Given the description of an element on the screen output the (x, y) to click on. 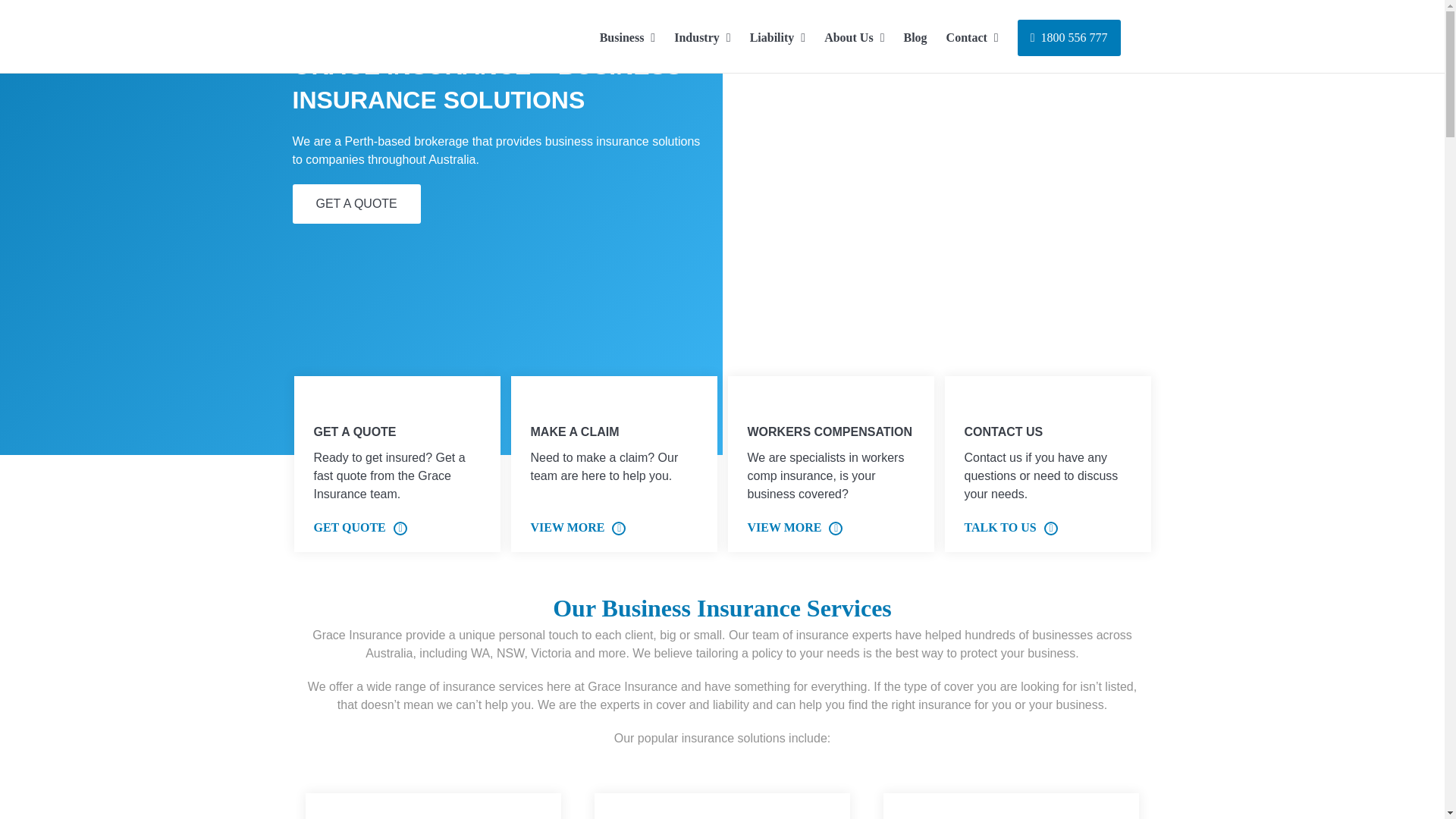
GET QUOTE Element type: text (360, 527)
TALK TO US Element type: text (1010, 527)
sms-chat Element type: hover (325, 403)
group-equal Element type: hover (976, 403)
GET A QUOTE Element type: text (356, 203)
Industry Element type: text (702, 36)
VIEW MORE Element type: text (795, 527)
graceinsurance-banner-image Element type: hover (1085, 304)
accessibility Element type: hover (759, 403)
1800 556 777 Element type: text (1068, 36)
chair Element type: hover (542, 403)
Business Element type: text (627, 36)
Blog Element type: text (914, 36)
About Us Element type: text (854, 36)
Liability Element type: text (777, 36)
VIEW MORE Element type: text (578, 527)
Contact Element type: text (972, 36)
